Given the description of an element on the screen output the (x, y) to click on. 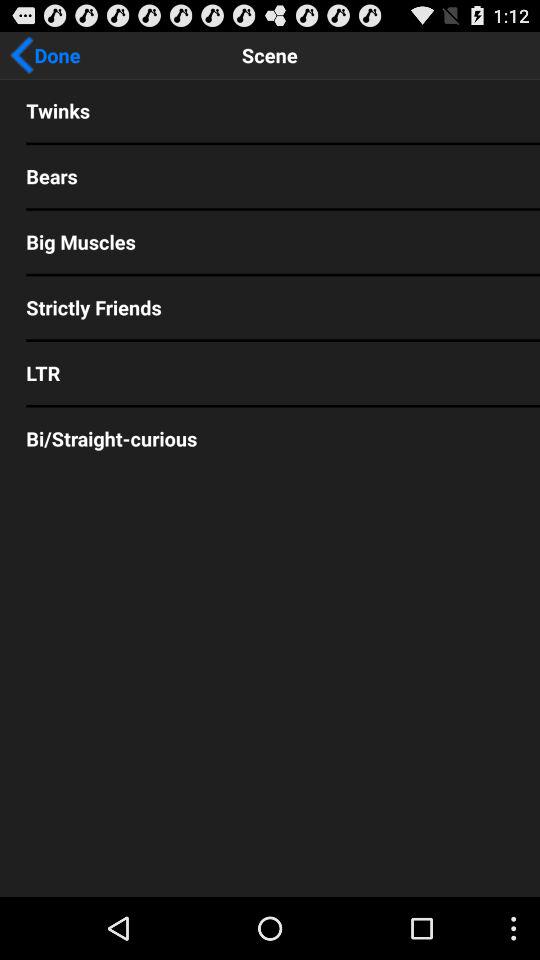
tap bears item (270, 175)
